Given the description of an element on the screen output the (x, y) to click on. 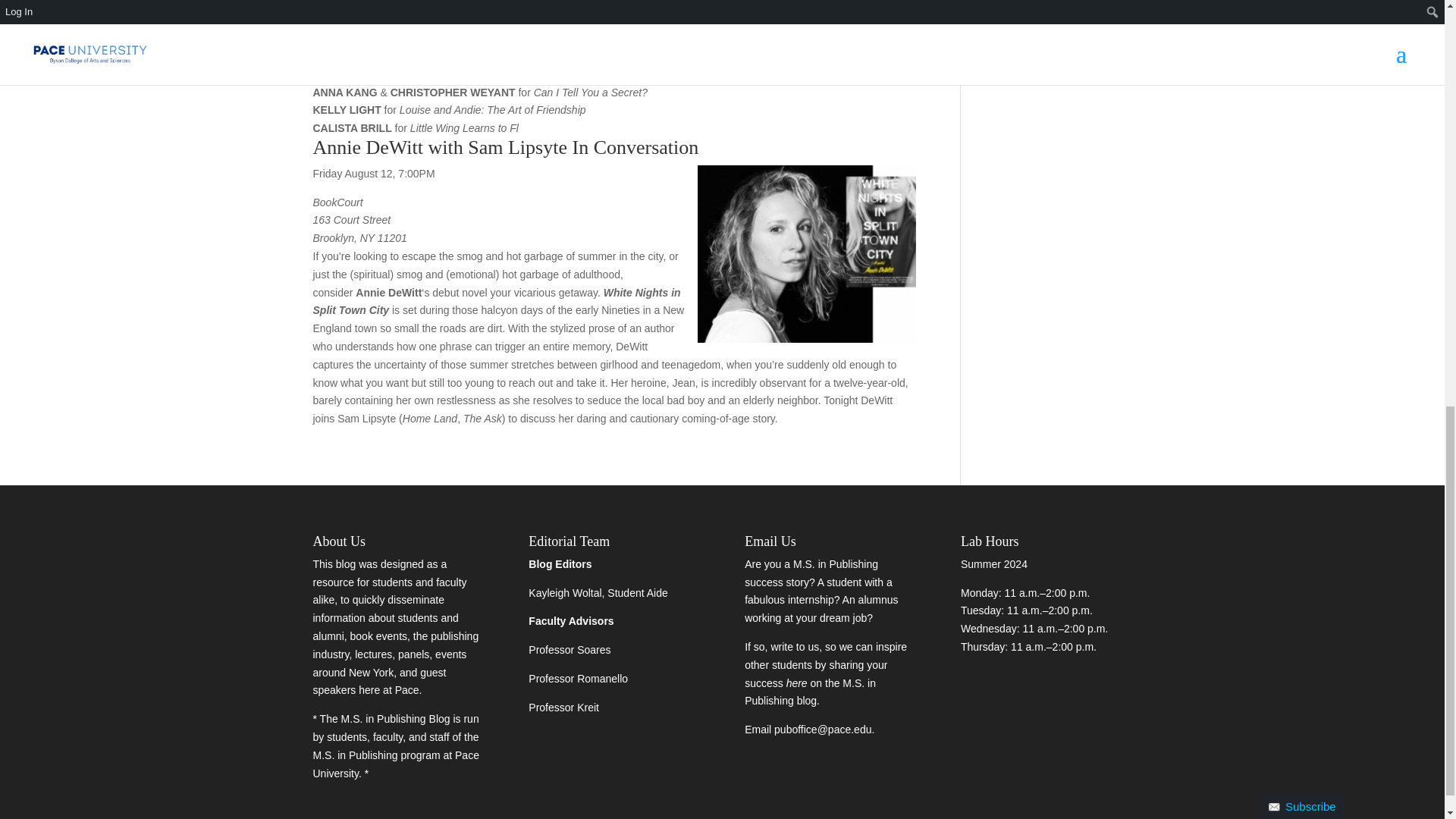
Subscribe me! (1050, 155)
Privacy Policy (1159, 120)
Professor Soares (569, 649)
In Conversation (635, 147)
Terms of Service (1104, 130)
Professor Romanello (577, 678)
Subscribe me! (1050, 155)
Professor Kreit (563, 707)
Annie DeWitt with Sam Lipsyte  (442, 147)
